Given the description of an element on the screen output the (x, y) to click on. 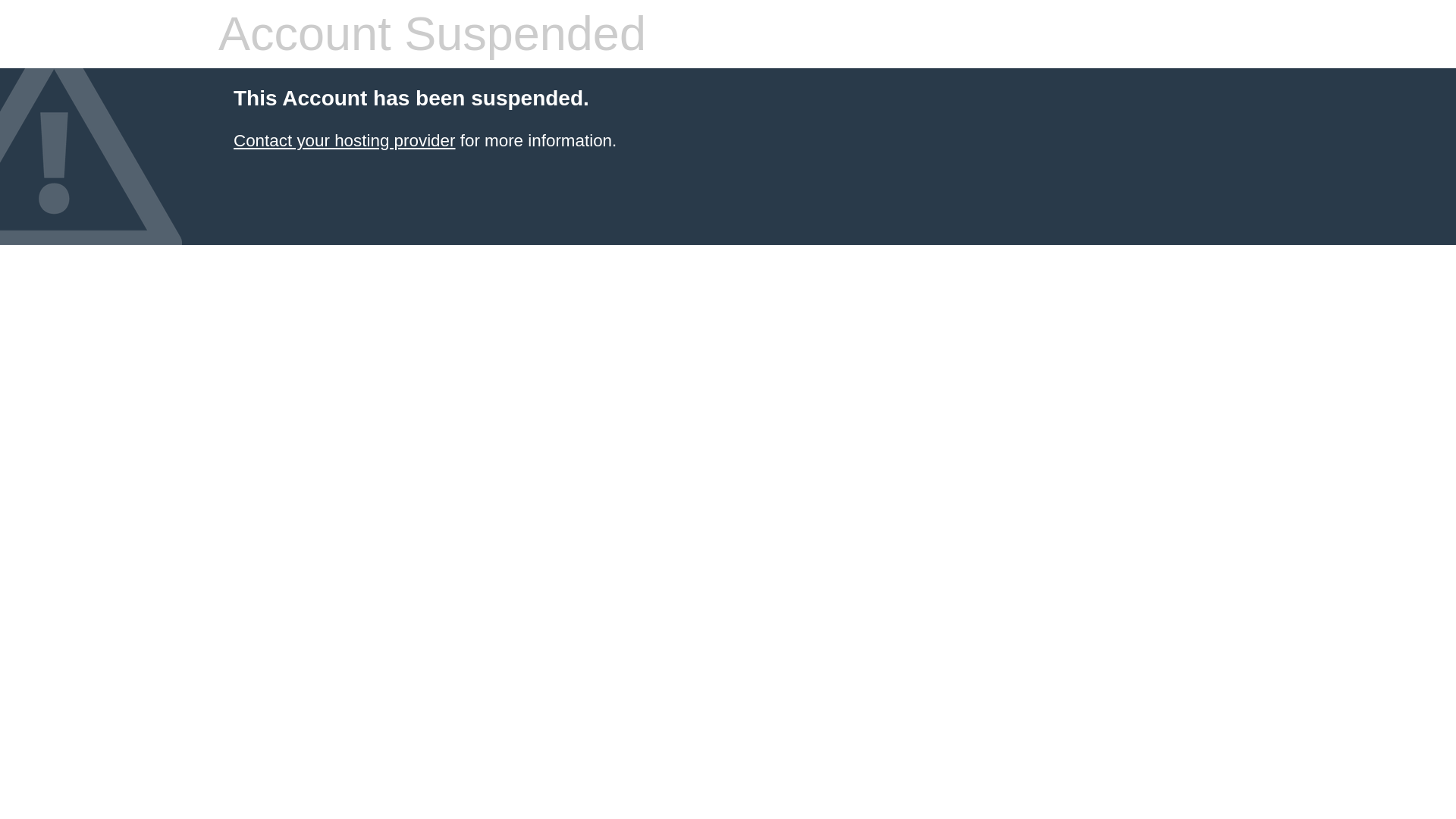
Contact your hosting provider (343, 140)
